Given the description of an element on the screen output the (x, y) to click on. 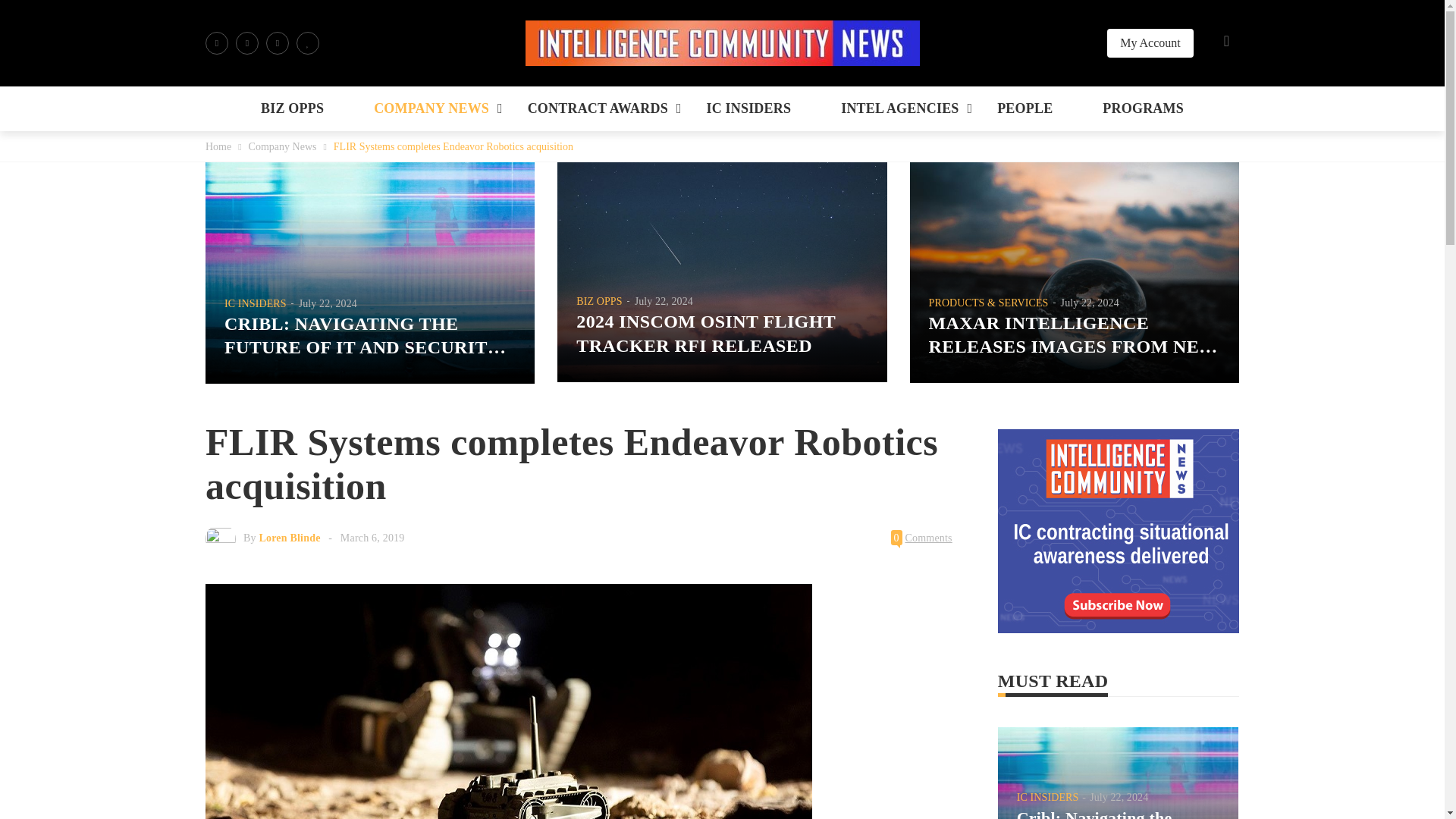
INTEL AGENCIES (899, 108)
Home (218, 146)
PEOPLE (1024, 108)
Posts by Loren Blinde (289, 537)
CONTRACT AWARDS (597, 108)
My Account (1149, 42)
IC INSIDERS (748, 108)
PROGRAMS (1142, 108)
Home (218, 146)
Company News (282, 146)
BIZ OPPS (292, 108)
Company News (282, 146)
COMPANY NEWS (431, 108)
